Given the description of an element on the screen output the (x, y) to click on. 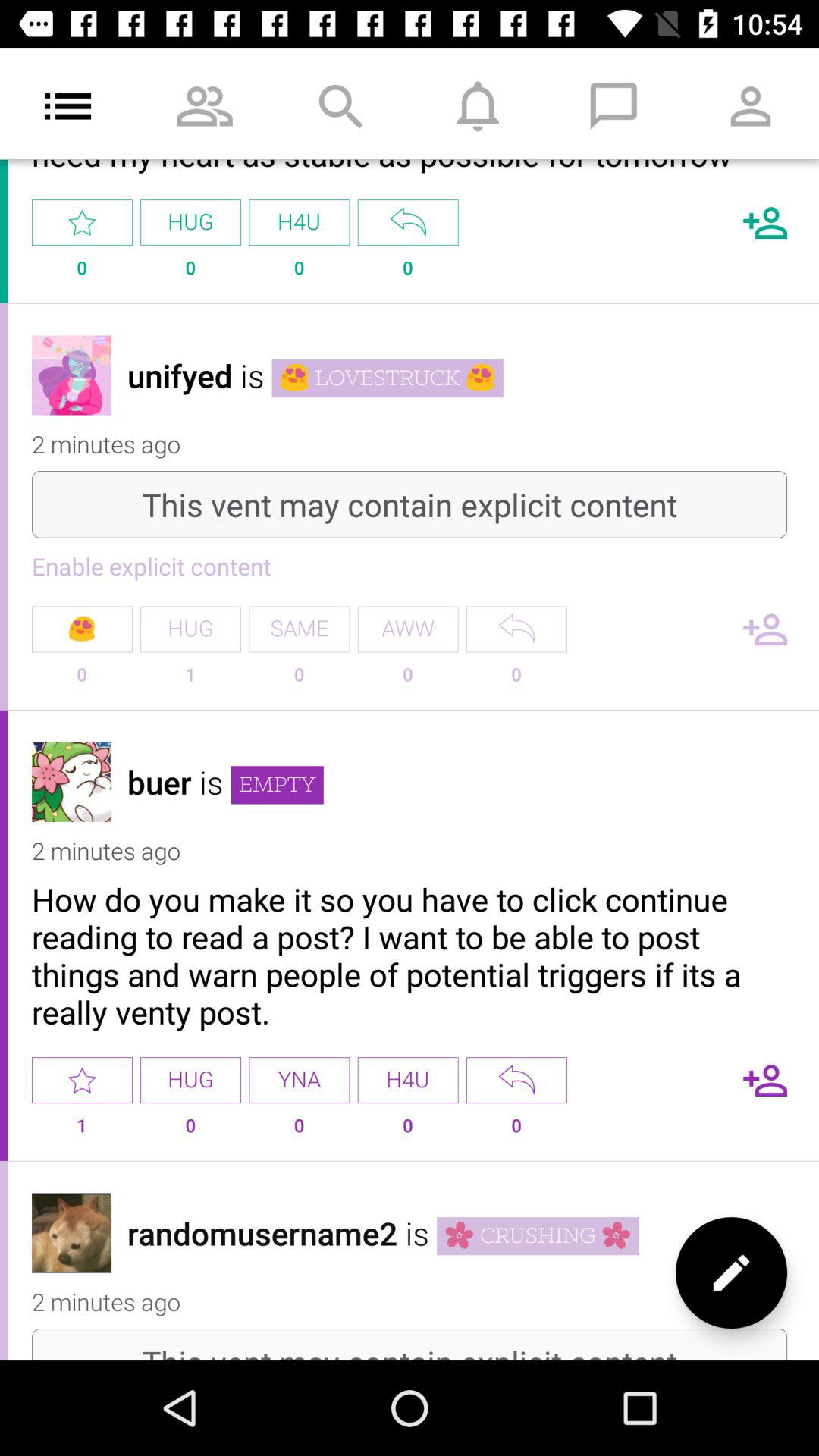
add friend (765, 222)
